Given the description of an element on the screen output the (x, y) to click on. 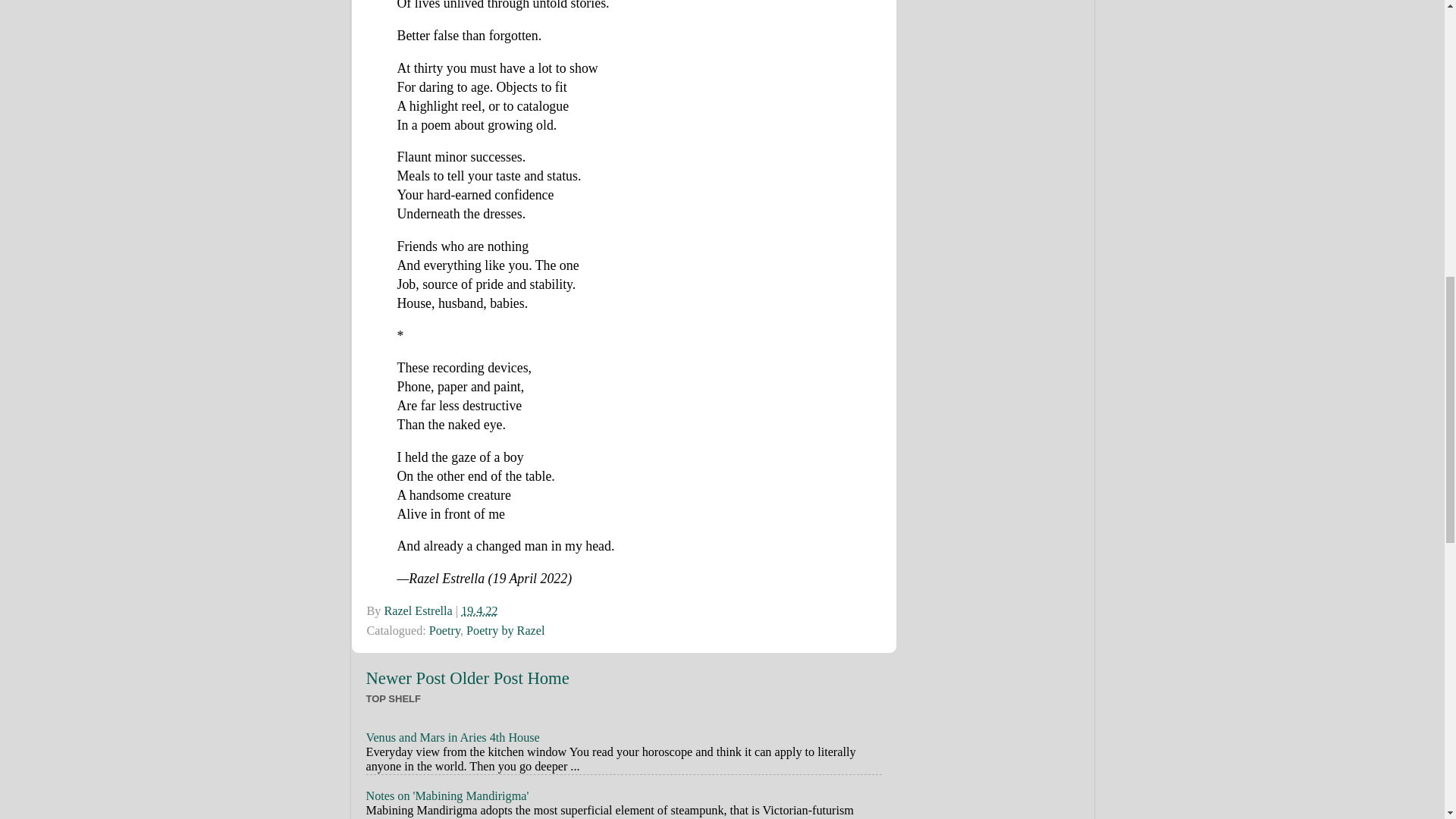
author profile (419, 611)
Older Post (485, 678)
Newer Post (405, 678)
19.4.22 (479, 611)
Poetry (444, 631)
Notes on 'Mabining Mandirigma' (446, 796)
Poetry by Razel (504, 631)
Older Post (485, 678)
Venus and Mars in Aries 4th House (451, 737)
Razel Estrella (419, 611)
